Given the description of an element on the screen output the (x, y) to click on. 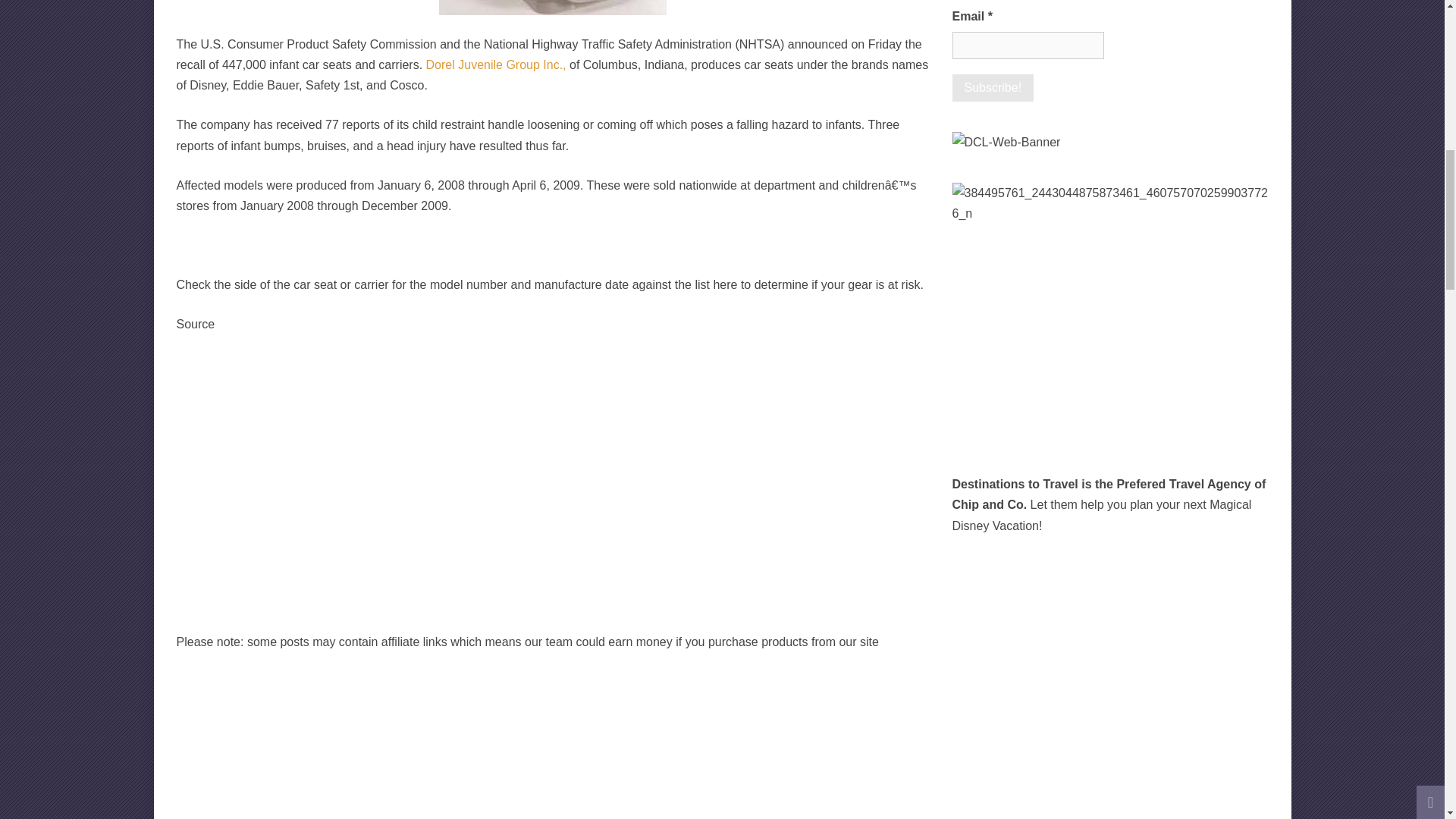
Subscribe! (992, 87)
Email (1027, 44)
